Given the description of an element on the screen output the (x, y) to click on. 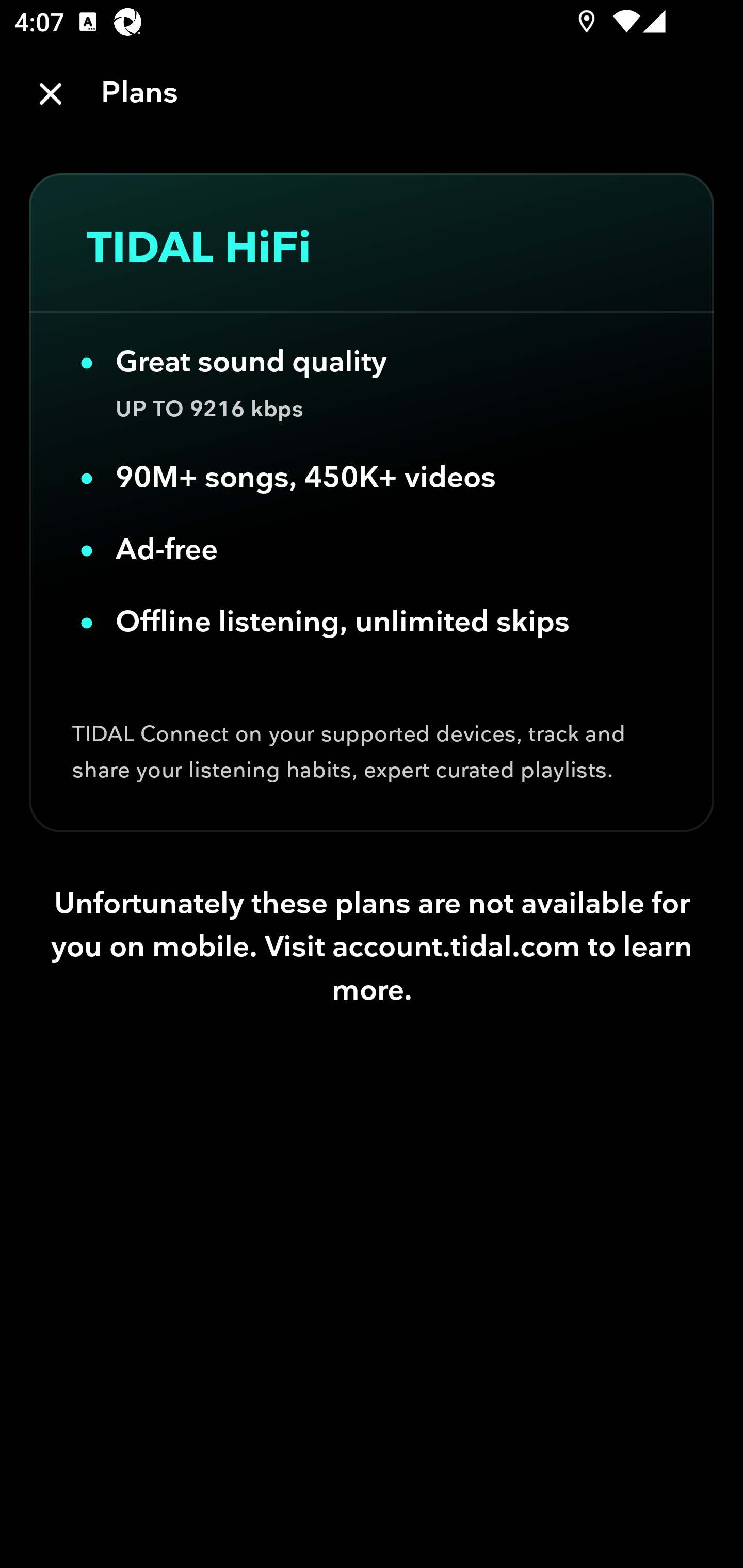
Close (50, 93)
